Given the description of an element on the screen output the (x, y) to click on. 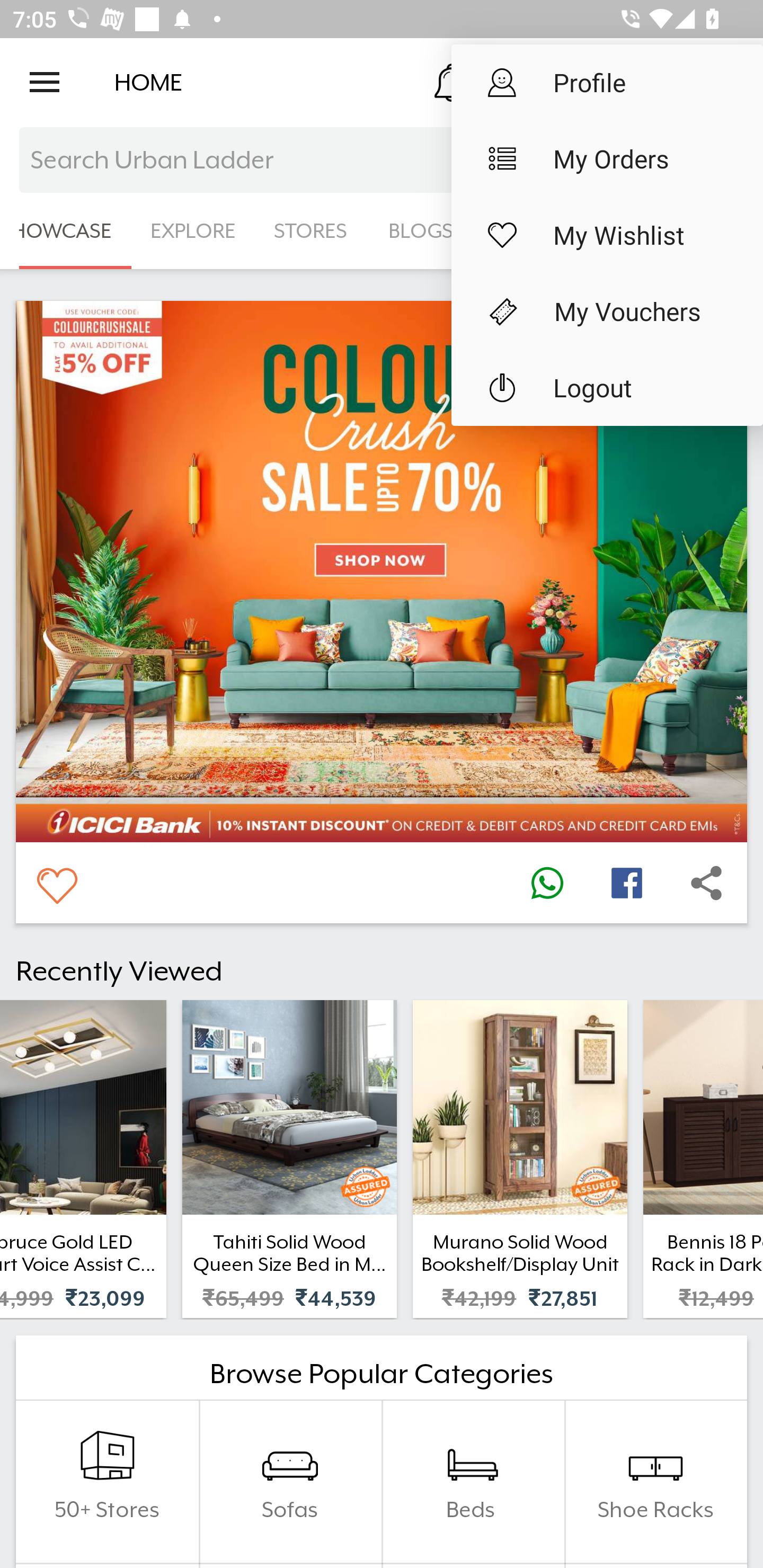
Profile (607, 81)
My Orders (607, 158)
My Wishlist (607, 234)
My Vouchers (607, 310)
Logout (607, 387)
